Given the description of an element on the screen output the (x, y) to click on. 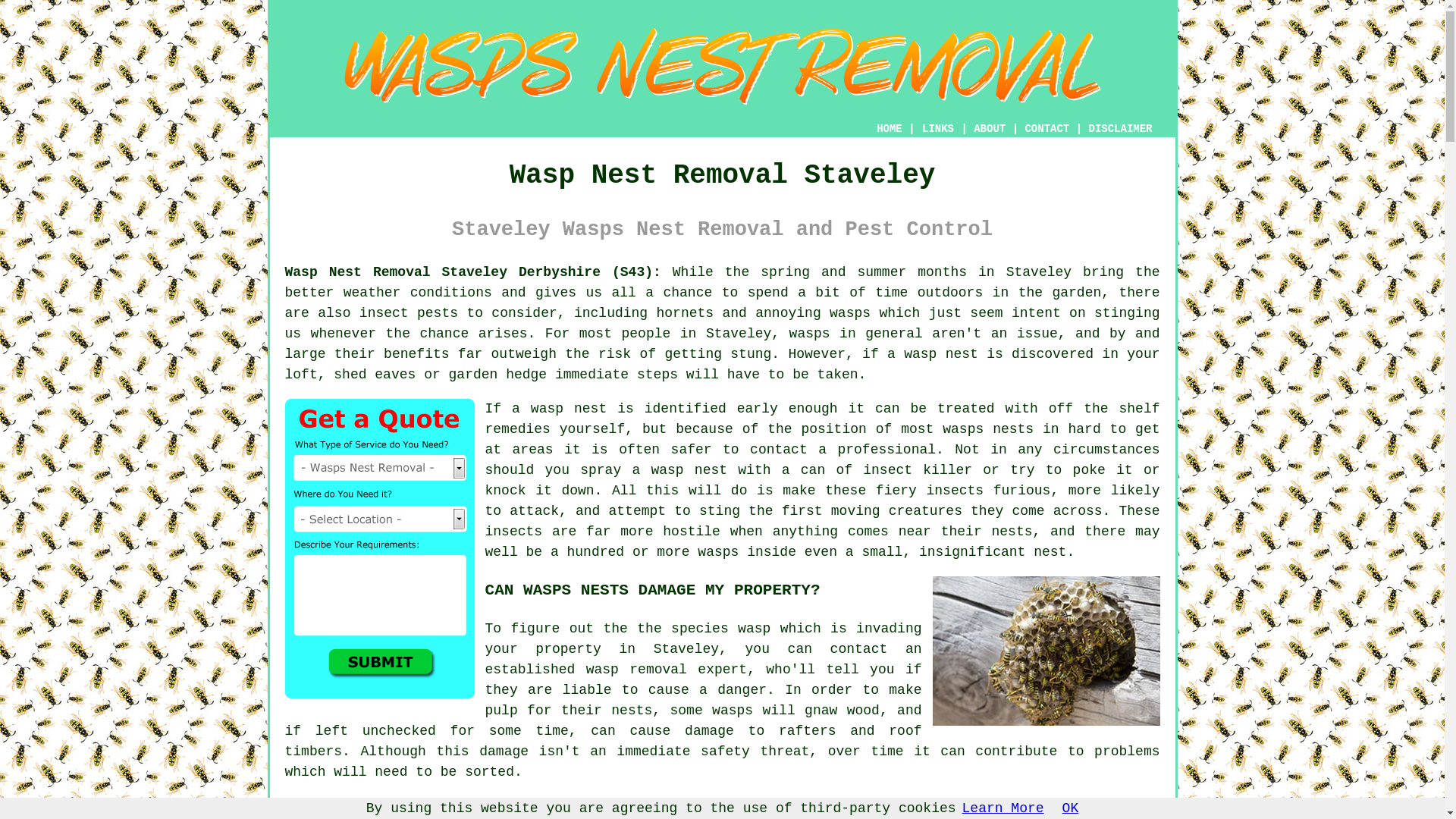
HOME (889, 128)
wasp nest (569, 408)
Wasps Nest Removal Staveley (721, 66)
LINKS (938, 128)
wasp removal (636, 669)
